Given the description of an element on the screen output the (x, y) to click on. 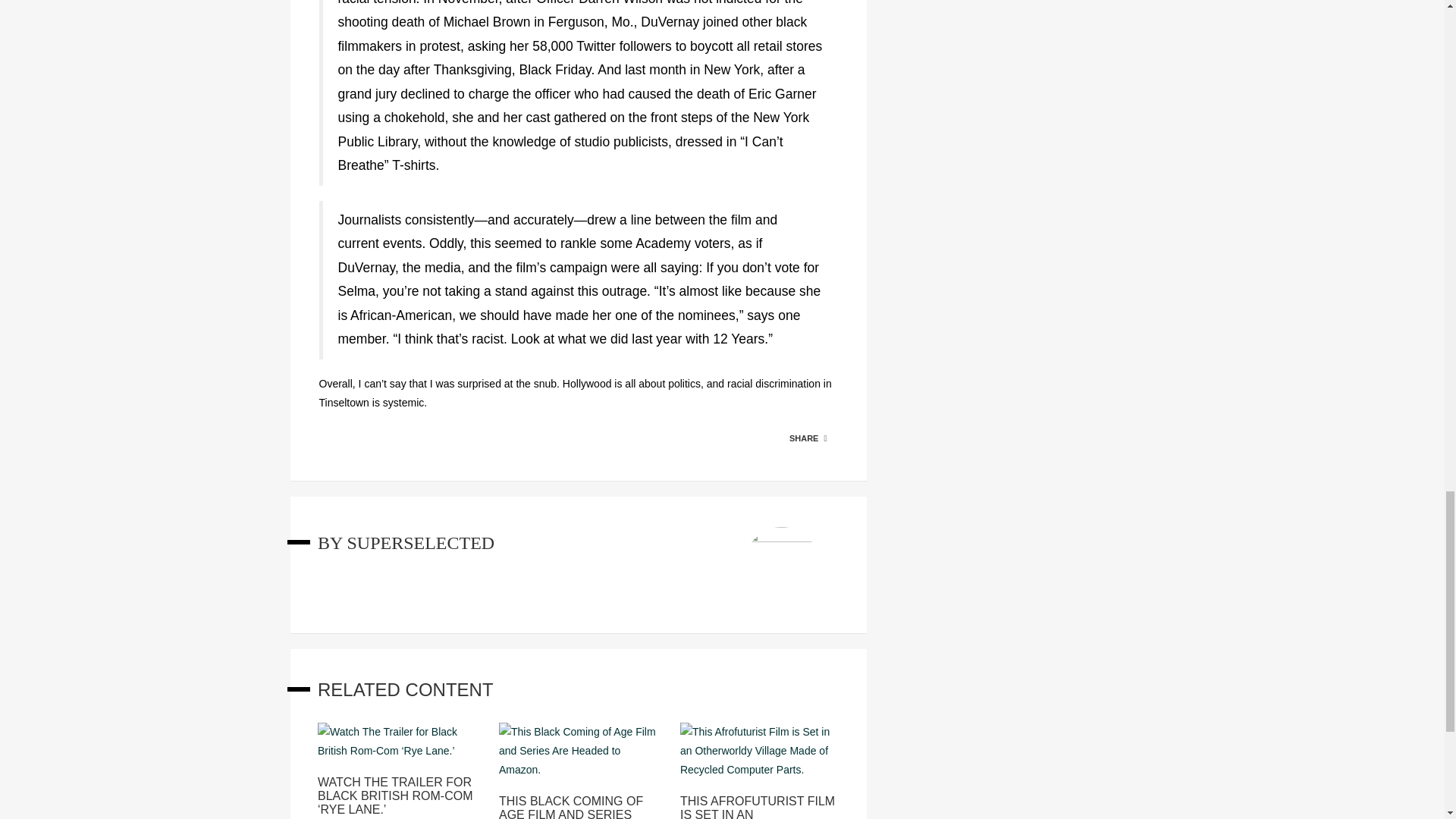
superselected (420, 542)
